Given the description of an element on the screen output the (x, y) to click on. 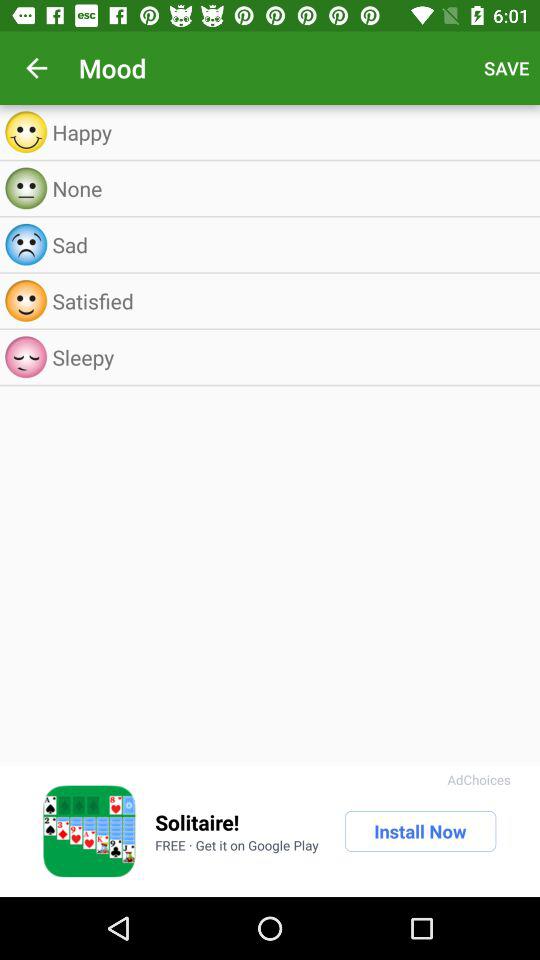
swipe until the install now (420, 831)
